Given the description of an element on the screen output the (x, y) to click on. 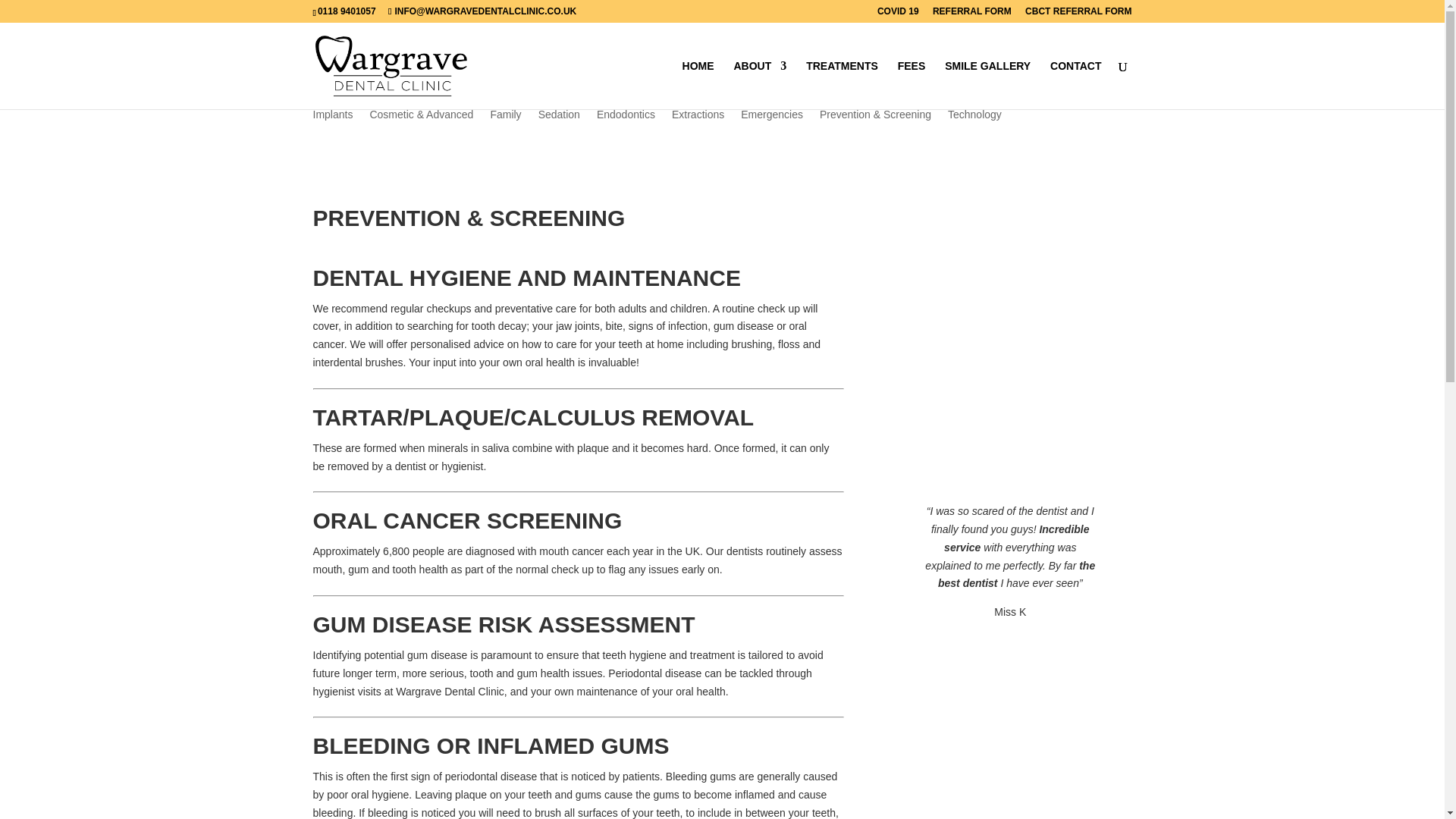
Extractions (697, 124)
Endodontics (625, 124)
CONTACT (1074, 84)
Sedation (558, 124)
SMILE GALLERY (987, 84)
Implants (332, 124)
Family (505, 124)
ABOUT (760, 84)
REFERRAL FORM (972, 14)
TREATMENTS (841, 84)
COVID 19 (897, 14)
Technology (974, 124)
CBCT REFERRAL FORM (1078, 14)
Emergencies (772, 124)
